Given the description of an element on the screen output the (x, y) to click on. 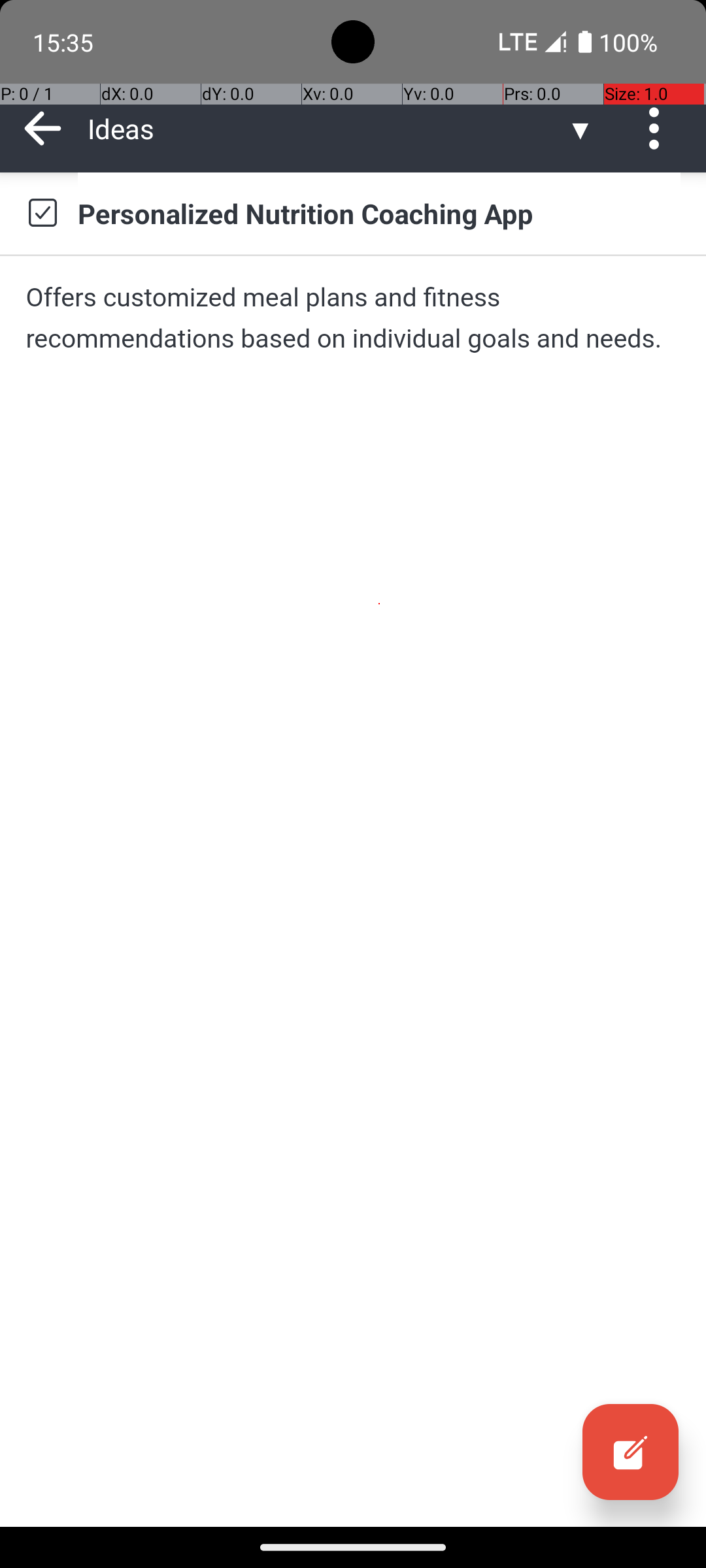
Personalized Nutrition Coaching App Element type: android.widget.EditText (378, 213)
Offers customized meal plans and fitness recommendations based on individual goals and needs. Element type: android.widget.TextView (352, 317)
